Given the description of an element on the screen output the (x, y) to click on. 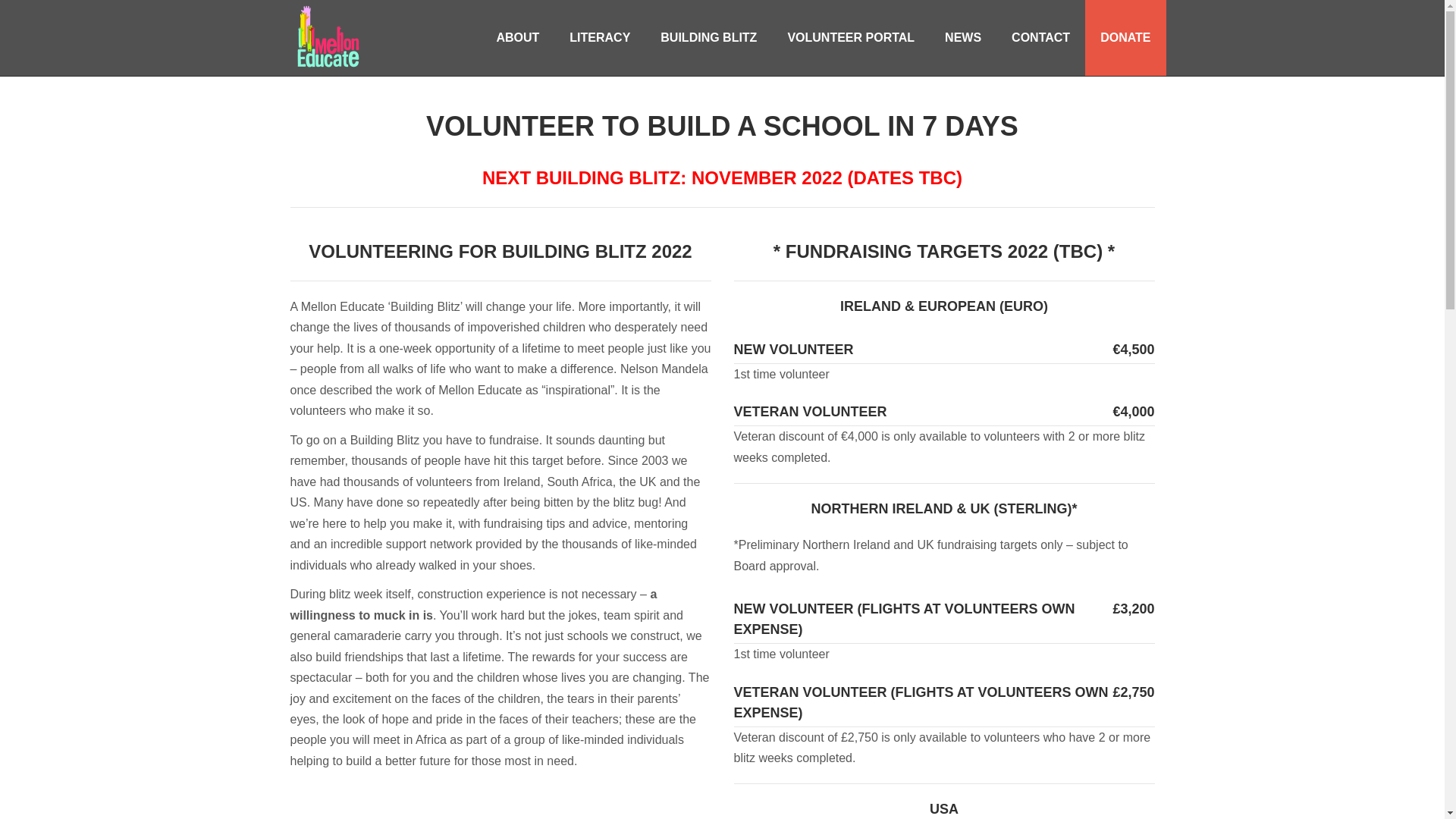
BUILDING BLITZ (708, 38)
CONTACT (1039, 38)
VOLUNTEER PORTAL (850, 38)
LITERACY (599, 38)
DONATE (1125, 38)
ABOUT (517, 38)
